Given the description of an element on the screen output the (x, y) to click on. 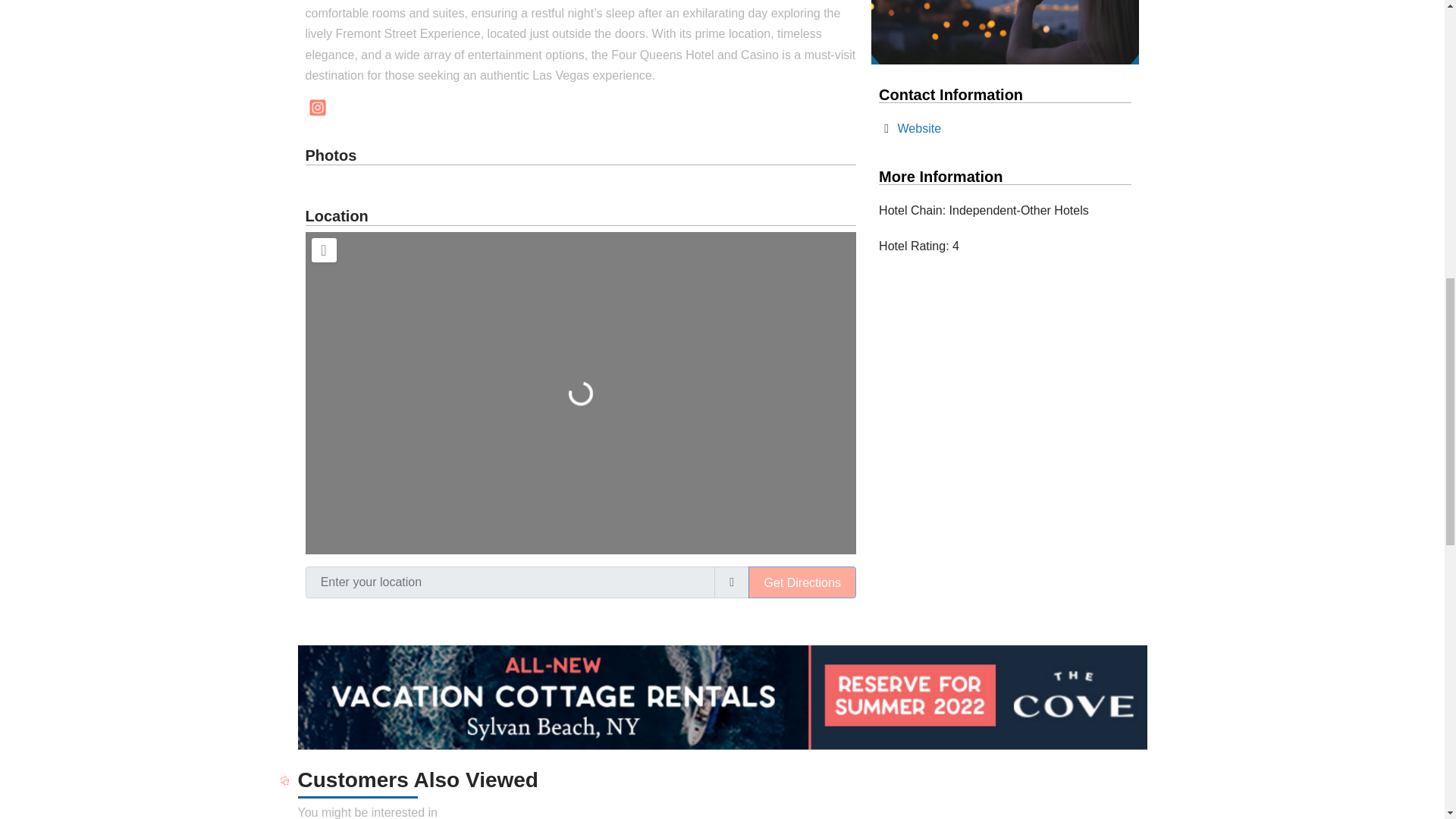
use my location (731, 582)
Instagram (316, 108)
